Given the description of an element on the screen output the (x, y) to click on. 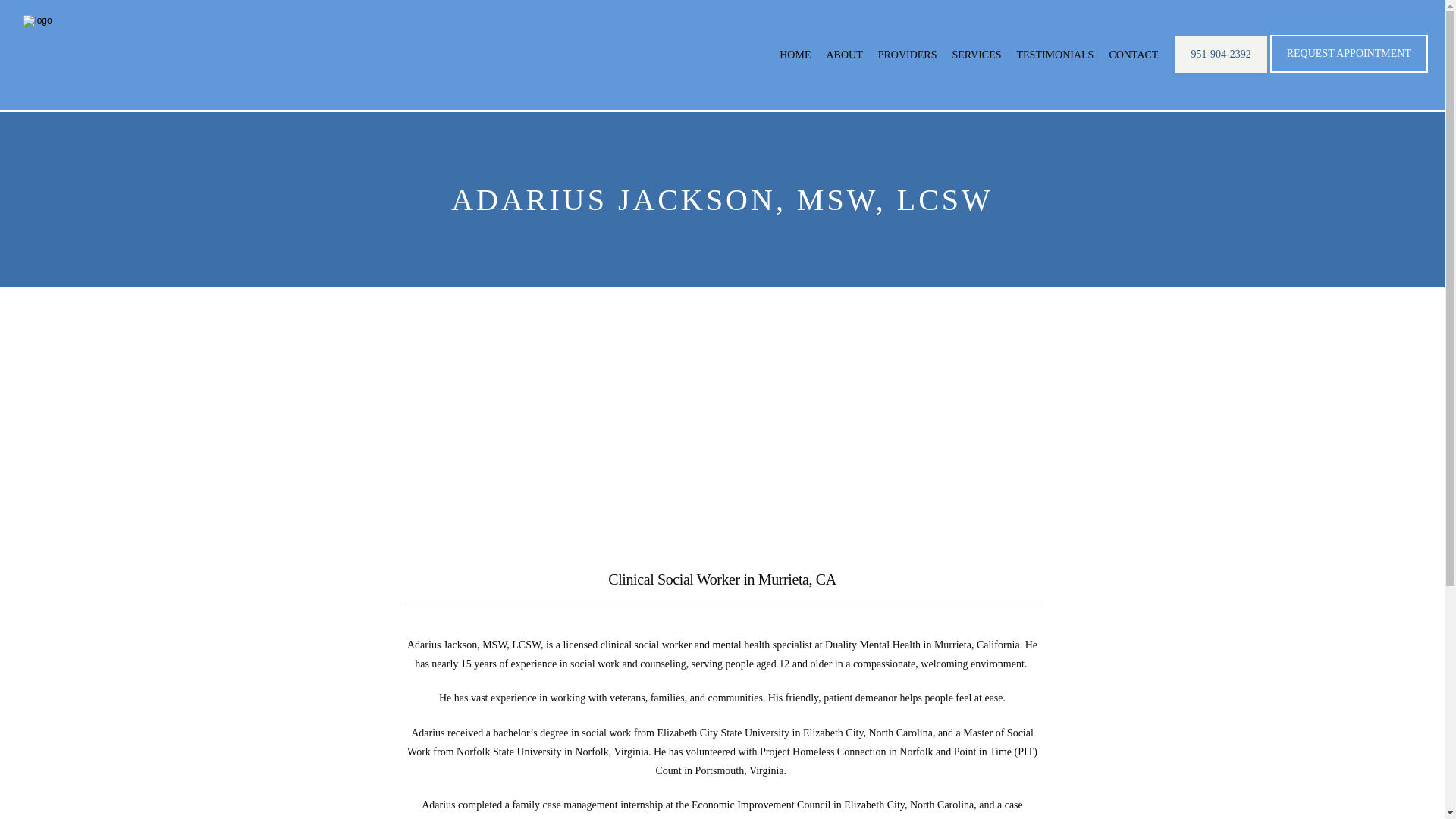
TESTIMONIALS (1055, 54)
REQUEST APPOINTMENT (1348, 71)
ABOUT (843, 54)
HOME (794, 54)
SERVICES (976, 54)
CONTACT (1132, 54)
951-904-2392 (1220, 71)
PROVIDERS (907, 54)
